Given the description of an element on the screen output the (x, y) to click on. 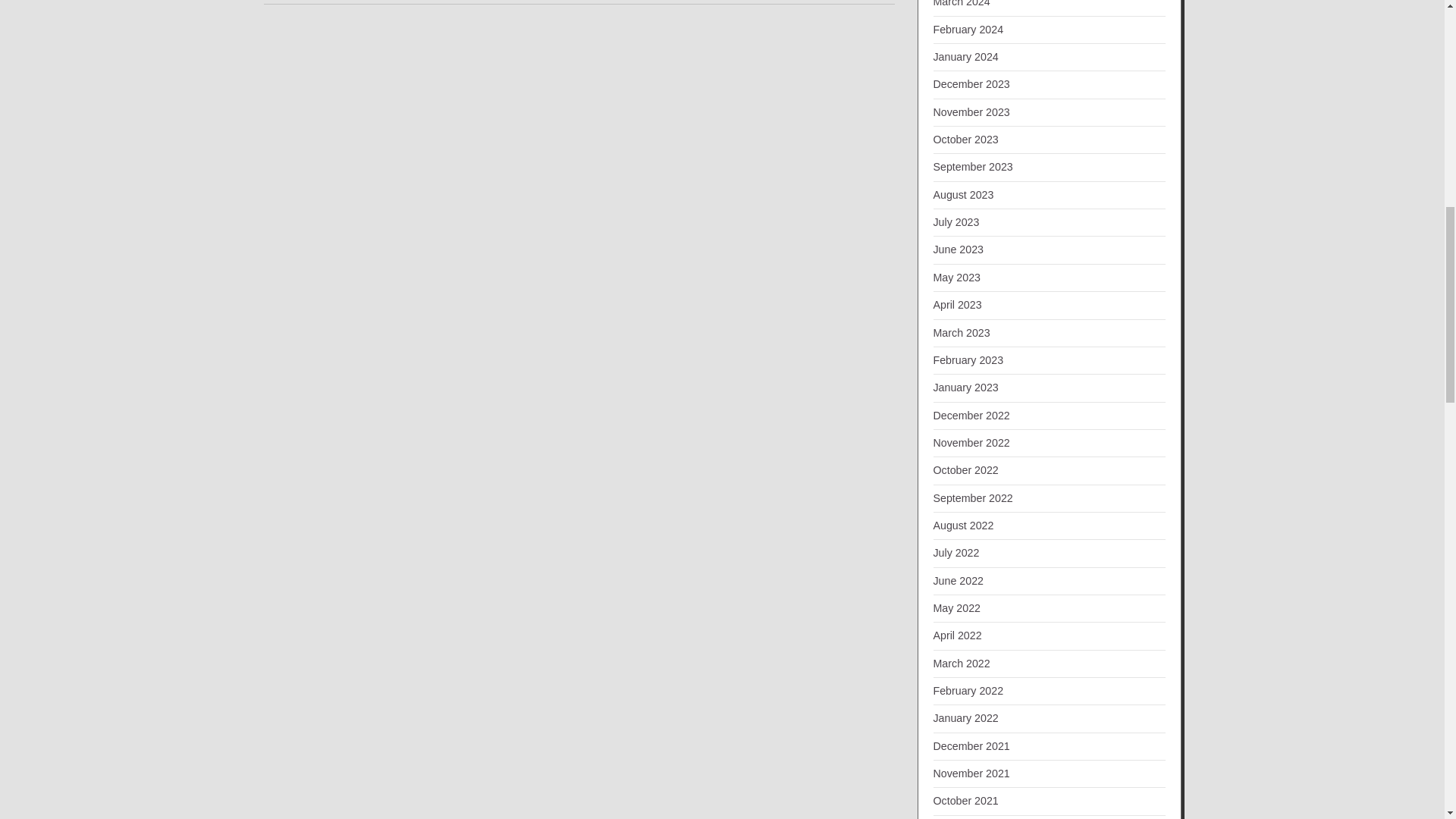
March 2024 (961, 3)
October 2023 (965, 139)
November 2023 (971, 111)
May 2023 (956, 277)
January 2024 (965, 56)
August 2023 (962, 194)
July 2023 (955, 222)
February 2024 (968, 29)
June 2023 (958, 249)
April 2023 (957, 304)
